Given the description of an element on the screen output the (x, y) to click on. 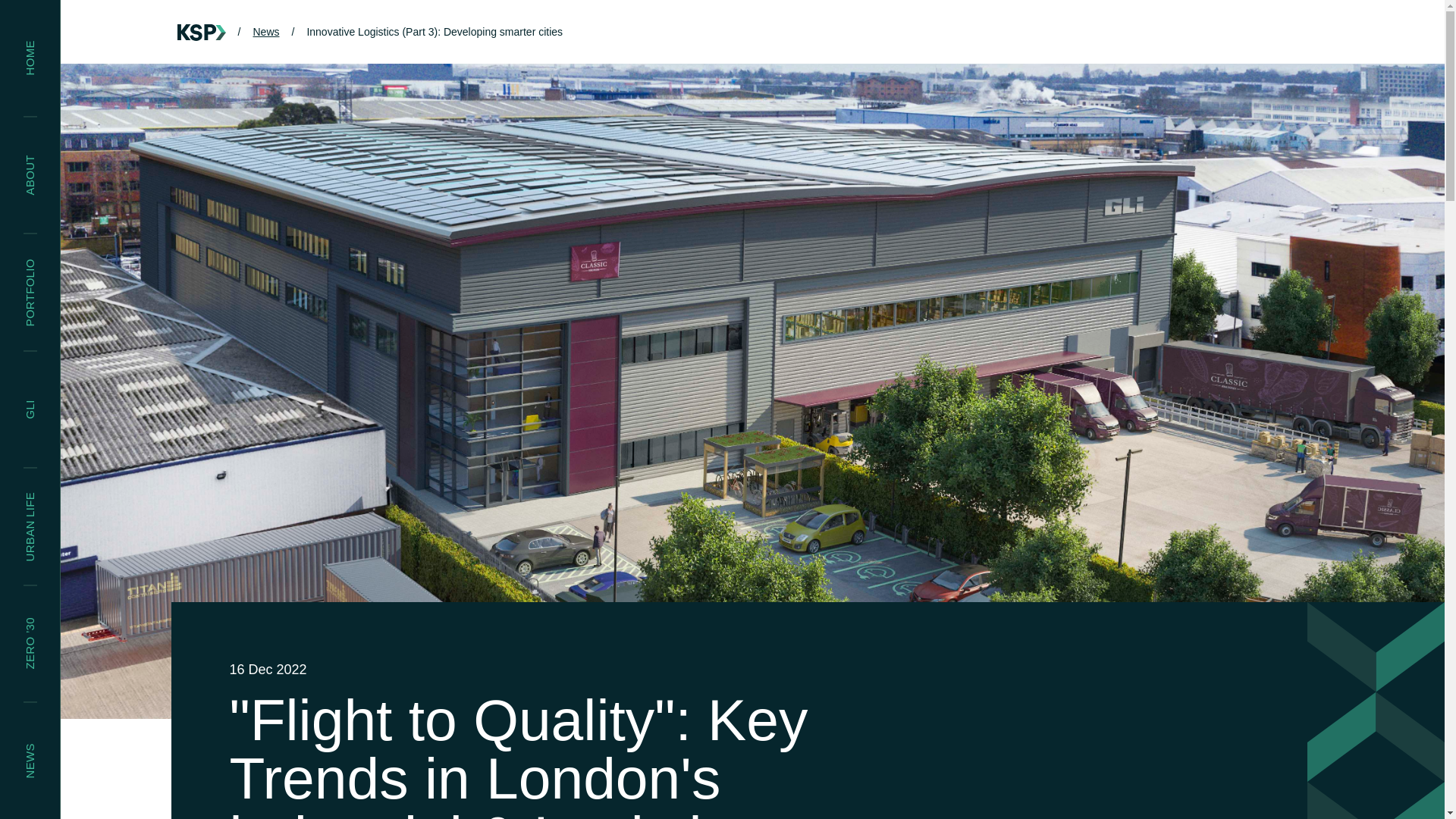
News (265, 31)
